Given the description of an element on the screen output the (x, y) to click on. 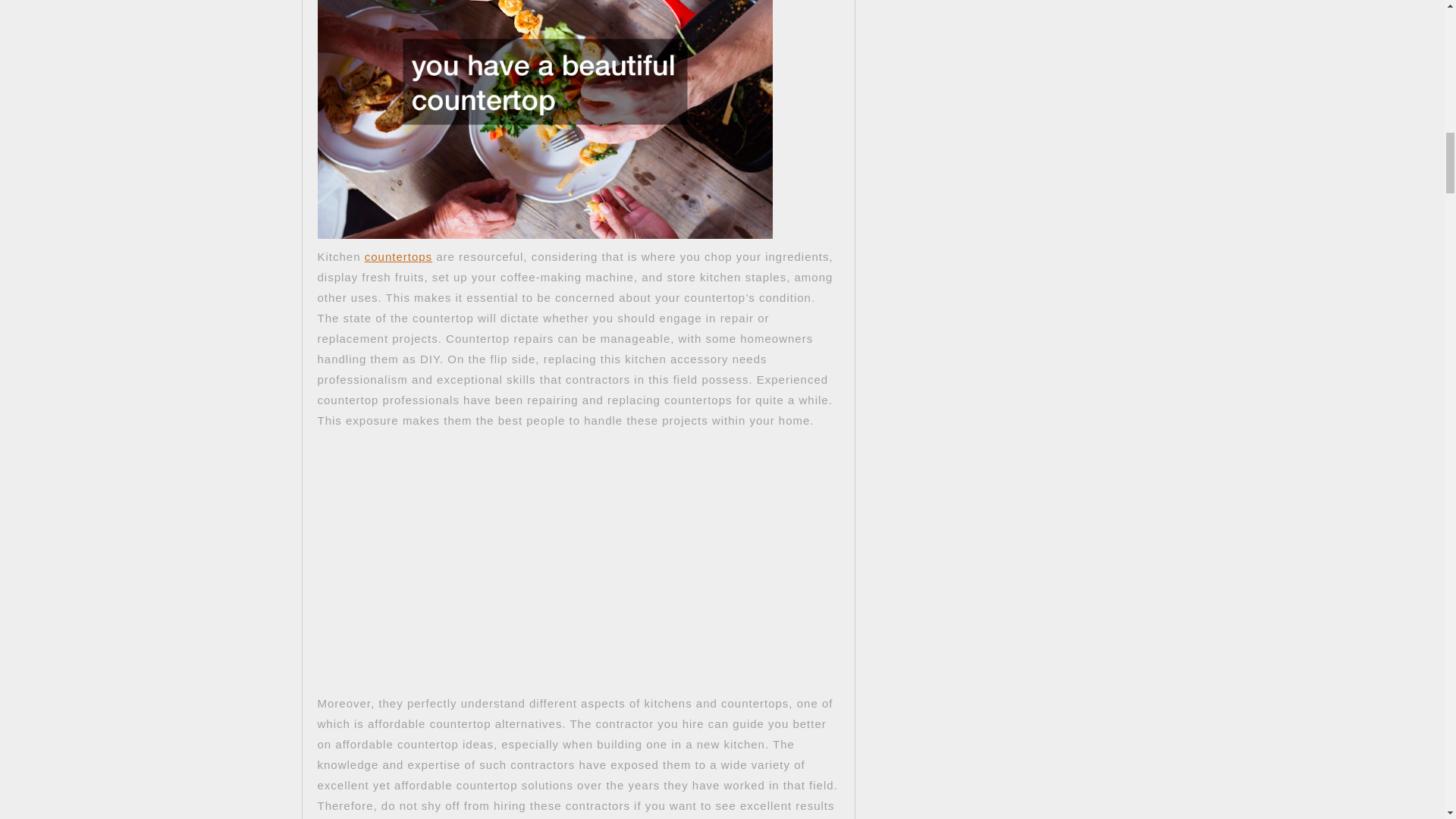
countertops (398, 256)
YouTube video player (529, 549)
